Given the description of an element on the screen output the (x, y) to click on. 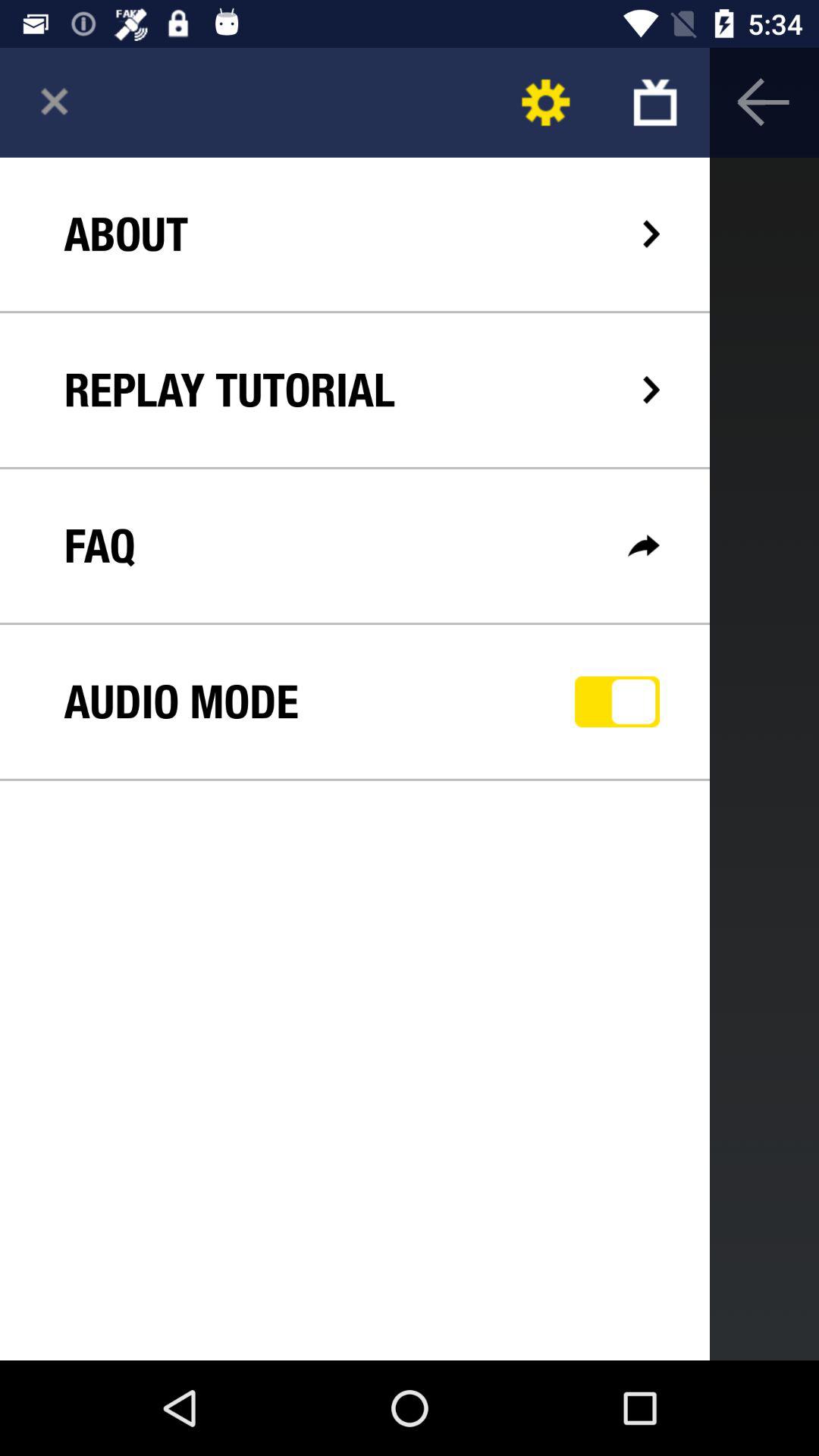
select app next to audio mode icon (617, 701)
